Given the description of an element on the screen output the (x, y) to click on. 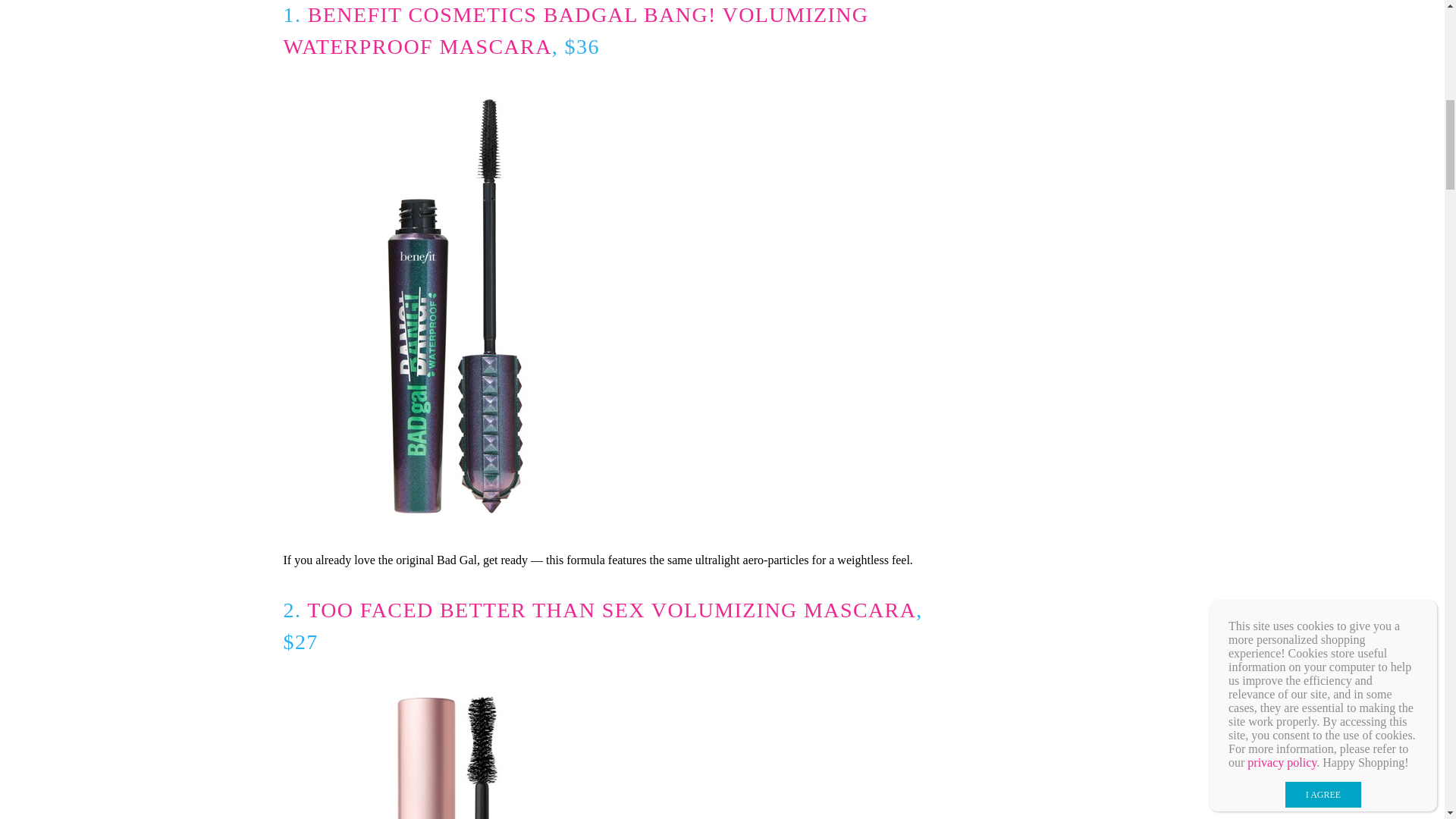
BENEFIT COSMETICS BADGAL BANG! VOLUMIZING WATERPROOF MASCARA (576, 30)
